Given the description of an element on the screen output the (x, y) to click on. 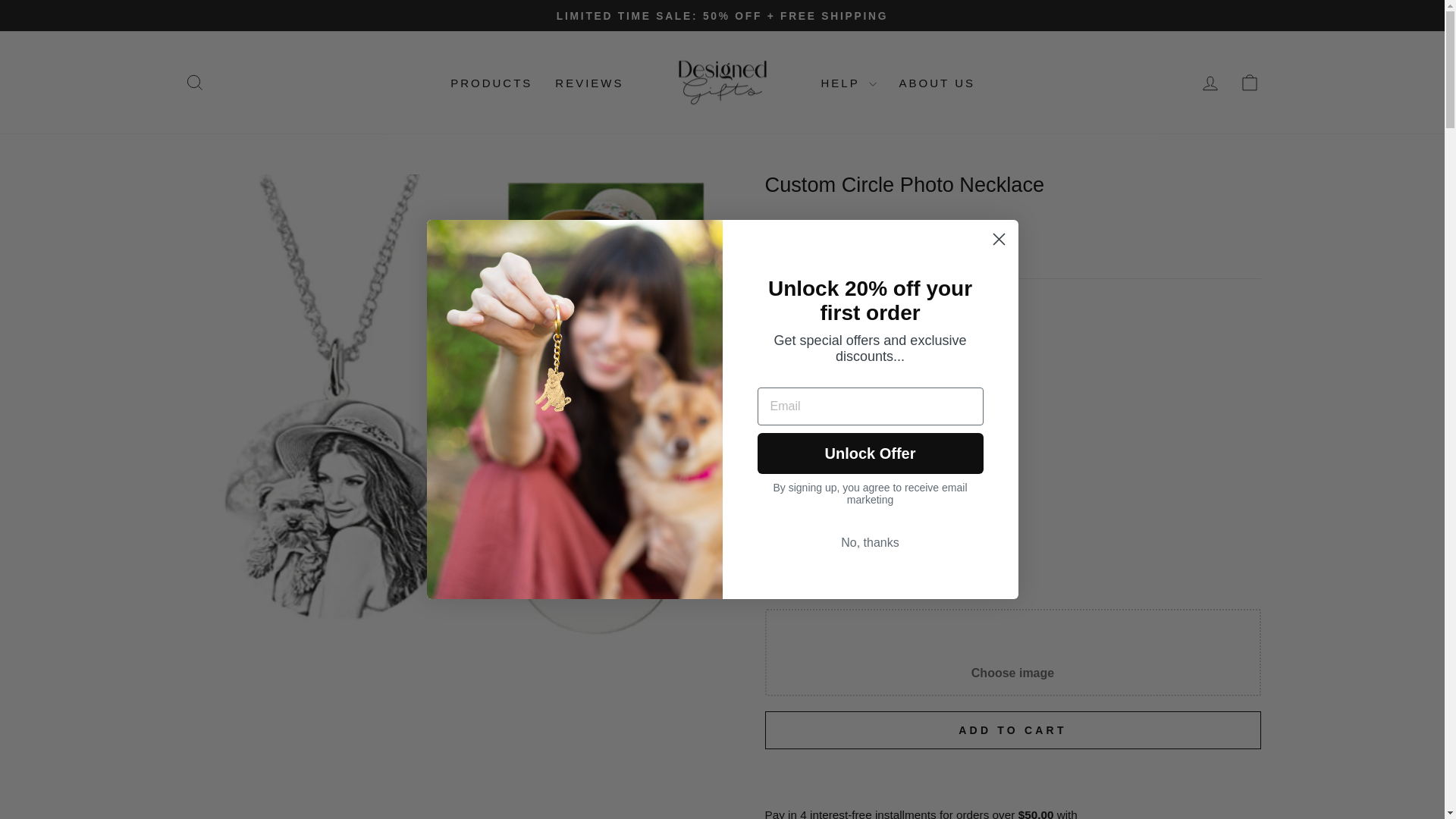
ACCOUNT (1210, 83)
REVIEWS (1012, 586)
PRODUCTS (588, 82)
Choose image (491, 82)
ADD TO CART (1012, 652)
Gold (1012, 730)
Sterling Silver (769, 483)
Silver (1249, 82)
ICON-SEARCH (194, 82)
ABOUT US (1249, 82)
